Given the description of an element on the screen output the (x, y) to click on. 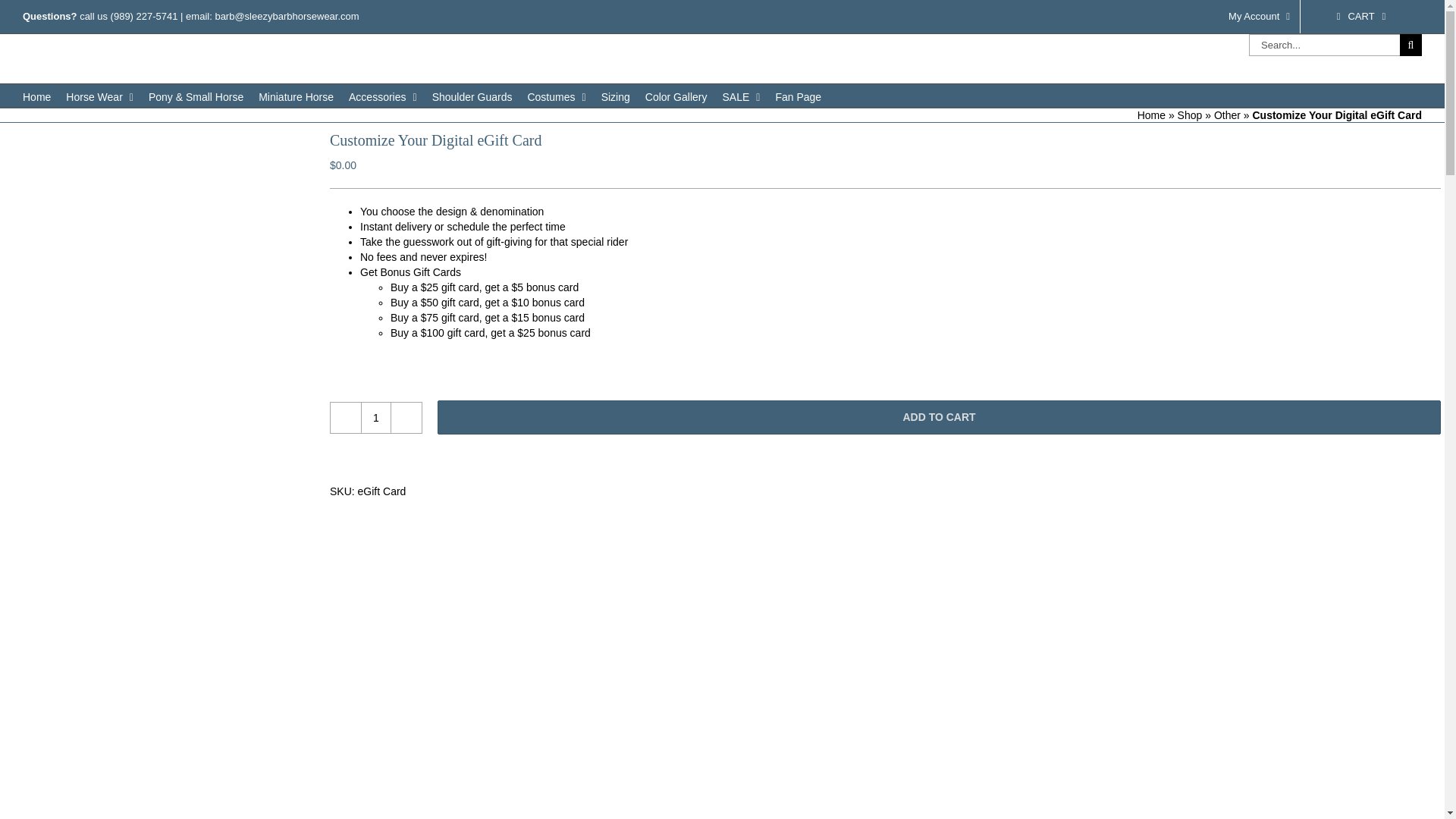
CART (1361, 16)
Color Gallery (676, 95)
Accessories (382, 95)
Log In (1291, 145)
Horse Wear (99, 95)
SALE (741, 95)
Sizing (615, 95)
Shoulder Guards (472, 95)
Costumes (556, 95)
Home (36, 95)
